Given the description of an element on the screen output the (x, y) to click on. 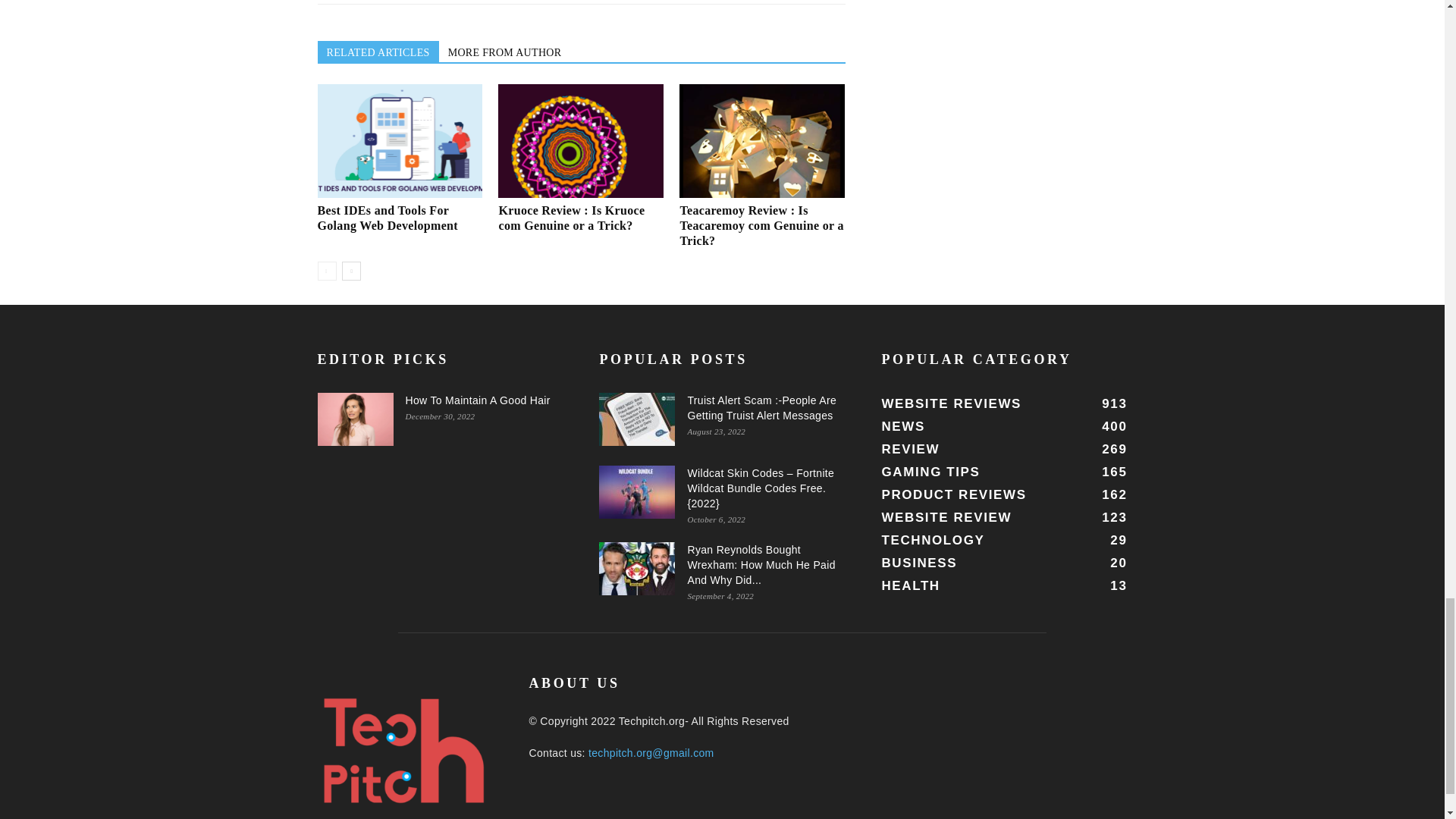
Best IDEs and Tools For Golang Web Development (399, 141)
Best IDEs and Tools For Golang Web Development (387, 217)
Kruoce Review : Is Kruoce com Genuine or a Trick? (580, 141)
